Given the description of an element on the screen output the (x, y) to click on. 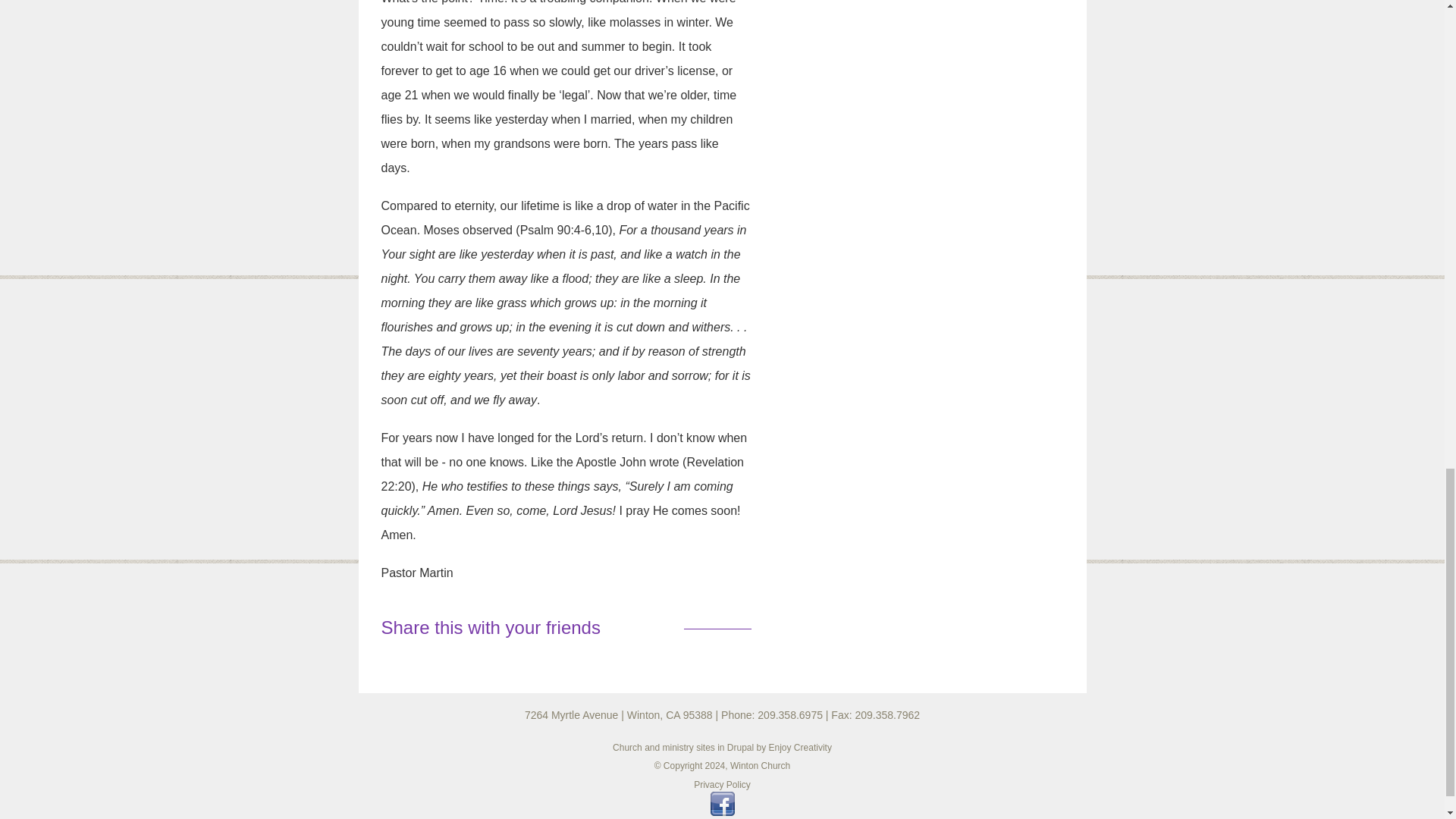
Church and ministry sites in Drupal by Enjoy Creativity (721, 747)
Visit wintonchurch on Facebook (721, 811)
Church and ministry sites in Drupal by Enjoy Creativity (721, 747)
Privacy Policy (722, 784)
